Given the description of an element on the screen output the (x, y) to click on. 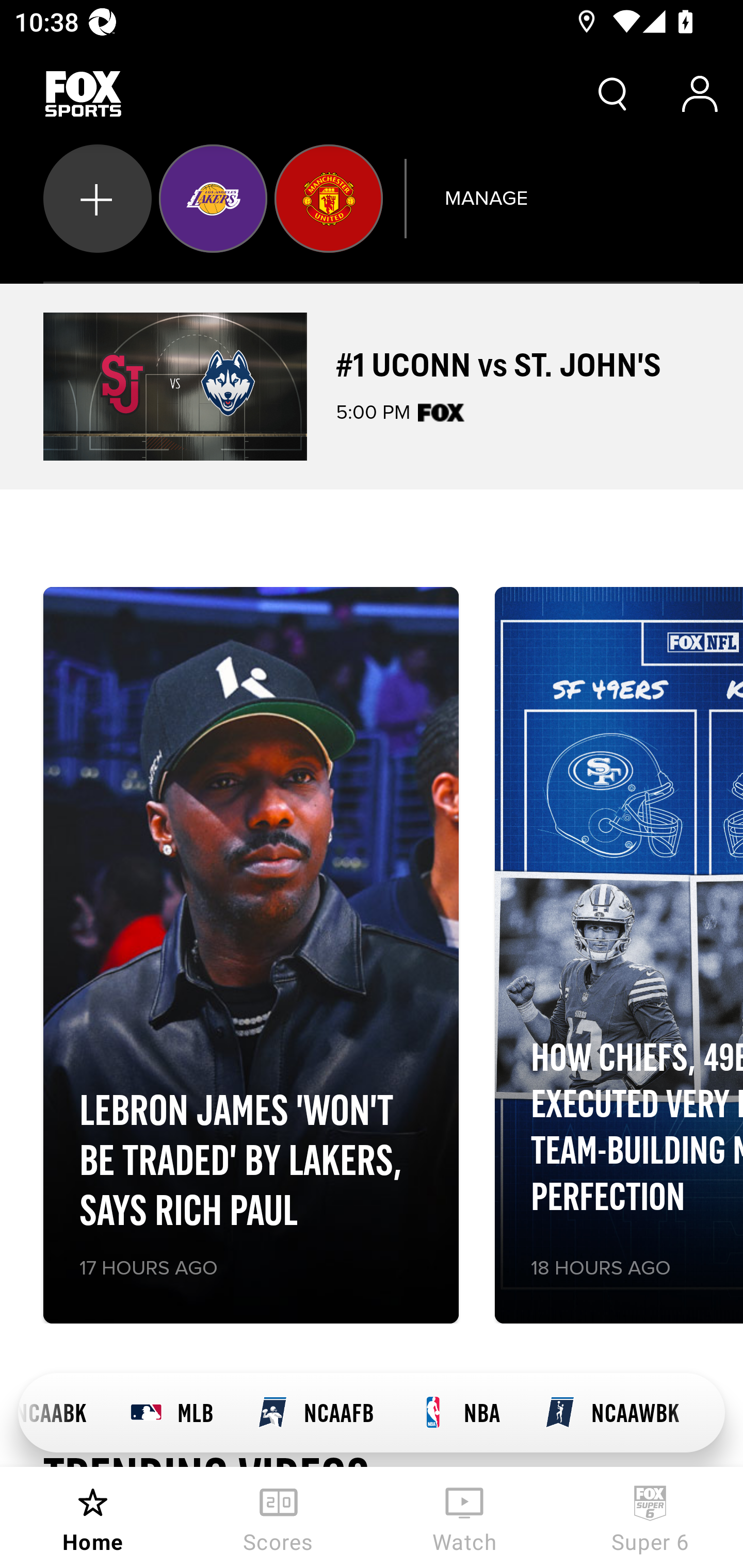
Search (612, 93)
Account (699, 93)
MANAGE (485, 198)
#1 UCONN vs ST. JOHN'S 5:00 PM (371, 386)
NCAABK (62, 1412)
MLB (171, 1412)
NCAAFB (314, 1412)
NBA (458, 1412)
NCAAWBK (611, 1412)
Scores (278, 1517)
Watch (464, 1517)
Super 6 (650, 1517)
